Given the description of an element on the screen output the (x, y) to click on. 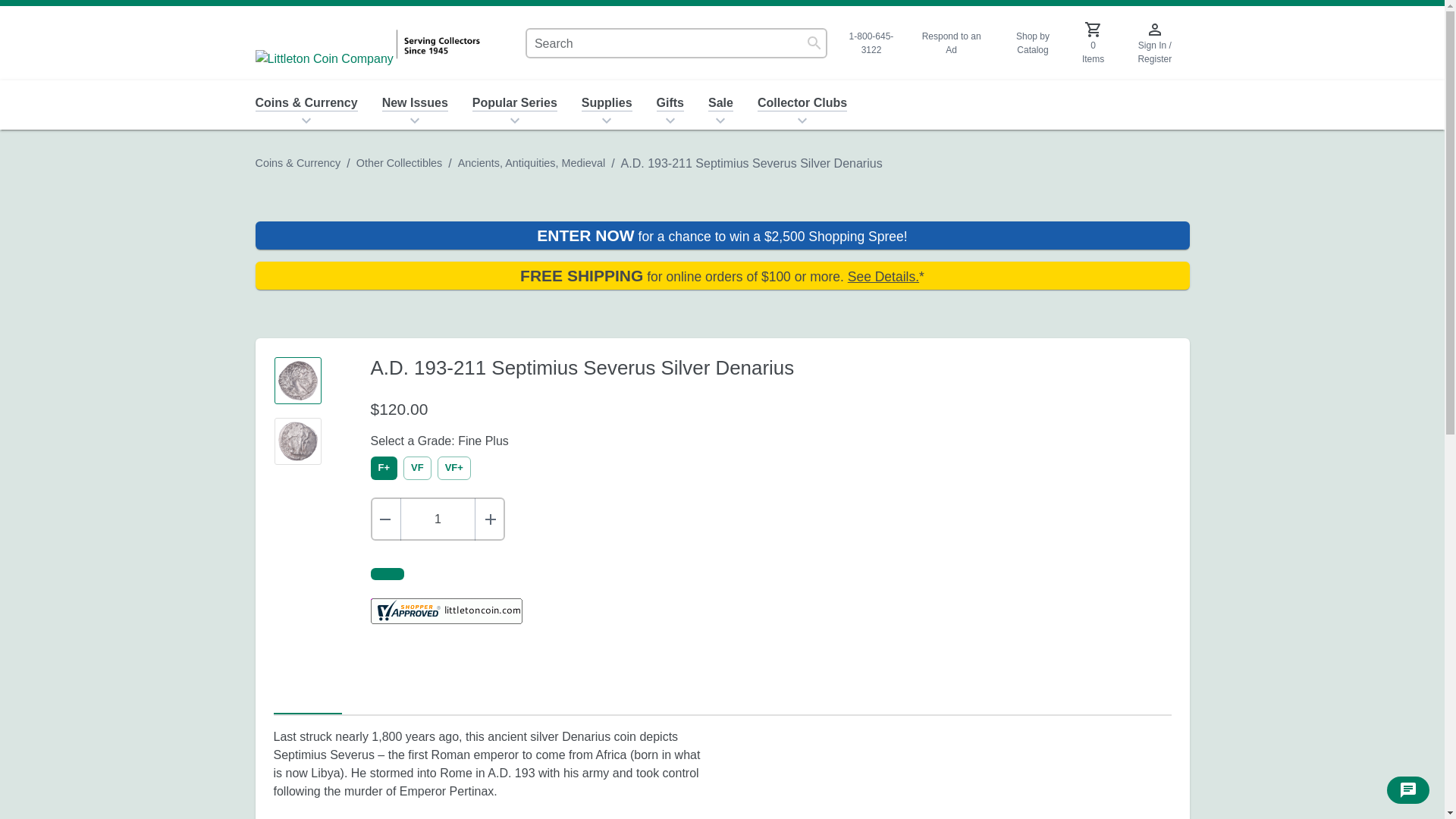
Other Collectibles (399, 162)
1 (437, 518)
Collector Clubs (802, 103)
Respond to an Ad (951, 42)
Sale (720, 103)
0 Items (1093, 43)
Ancients, Antiquities, Medieval (531, 162)
VF (416, 467)
Shop by Catalog (1031, 42)
Popular Series (514, 103)
New Issues (414, 103)
Gifts (670, 103)
Supplies (607, 103)
